Given the description of an element on the screen output the (x, y) to click on. 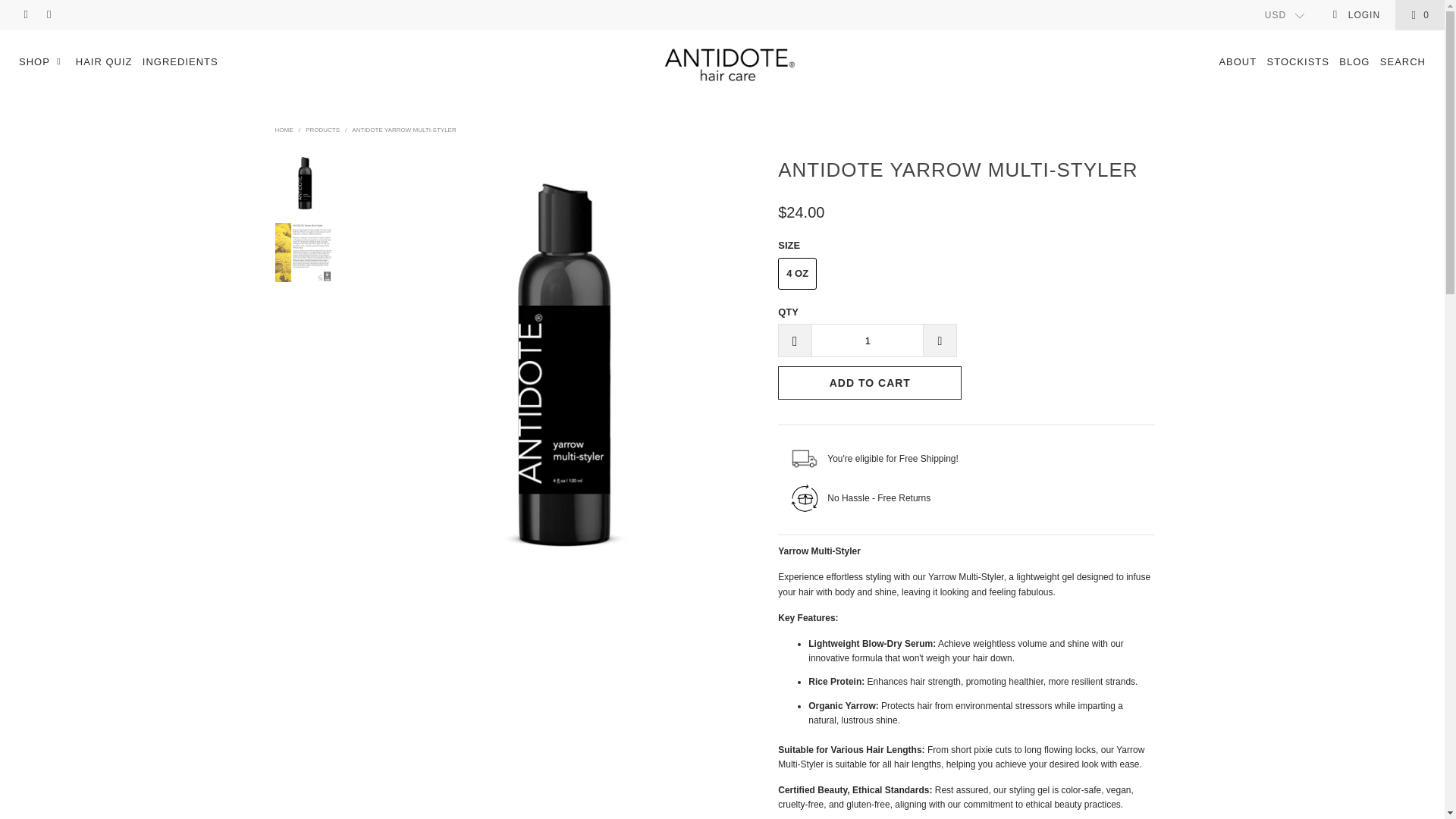
ABOUT (1237, 61)
1 (866, 340)
BLOG (1354, 61)
ANTIDOTE Hair Care (283, 129)
My Account  (1355, 15)
SEARCH (1402, 61)
ANTIDOTE Hair Care on Instagram (48, 14)
HAIR QUIZ (103, 61)
ANTIDOTE Hair Care (729, 64)
INGREDIENTS (180, 61)
